Given the description of an element on the screen output the (x, y) to click on. 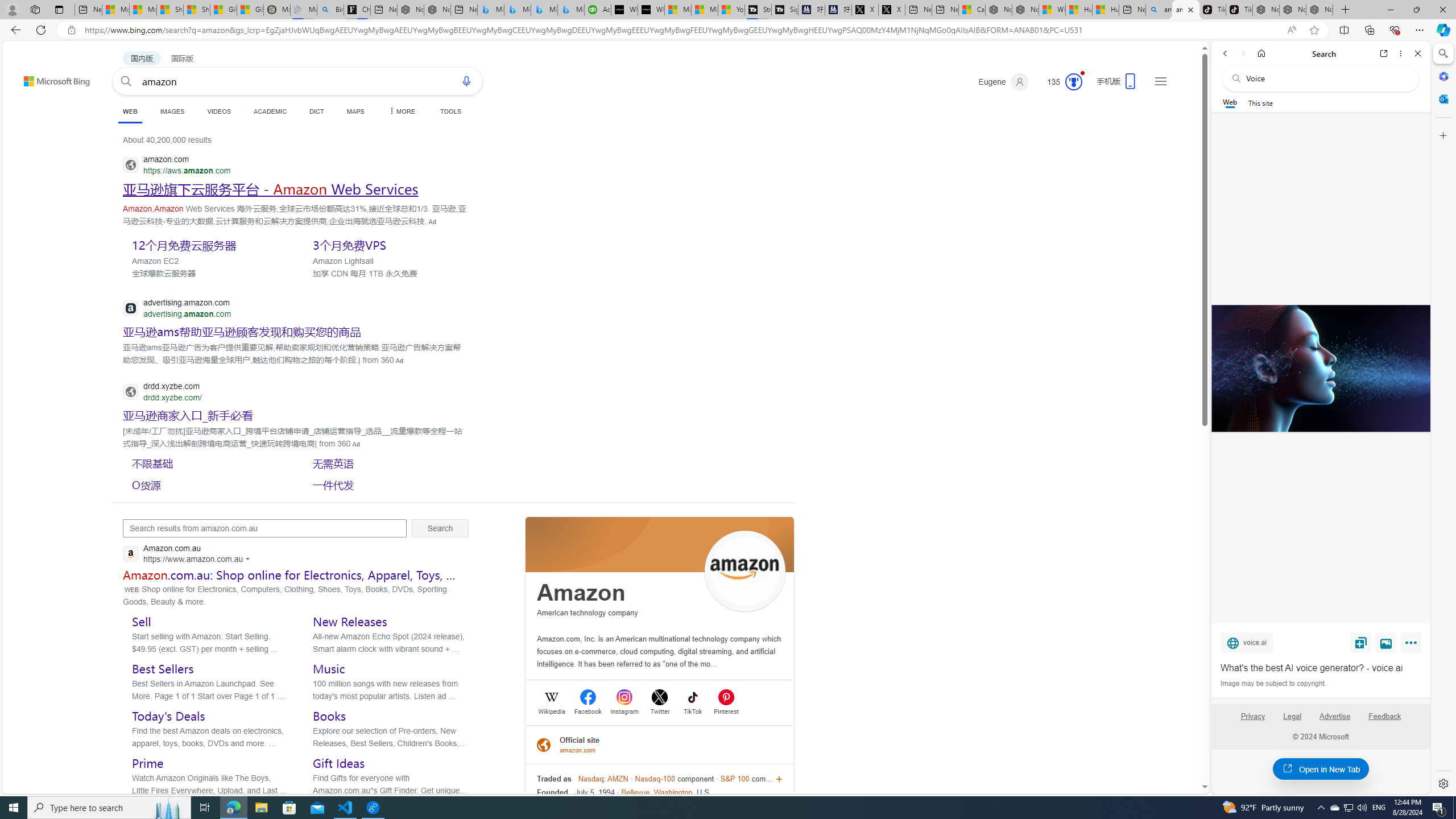
See more images of Amazon (745, 571)
SERP,5560 (241, 331)
Manatee Mortality Statistics | FWC (277, 9)
Nasdaq (591, 778)
TikTok (692, 710)
Side bar (1443, 418)
Back to Bing search (50, 78)
Official siteamazon.com (660, 744)
Web scope (1230, 102)
